Given the description of an element on the screen output the (x, y) to click on. 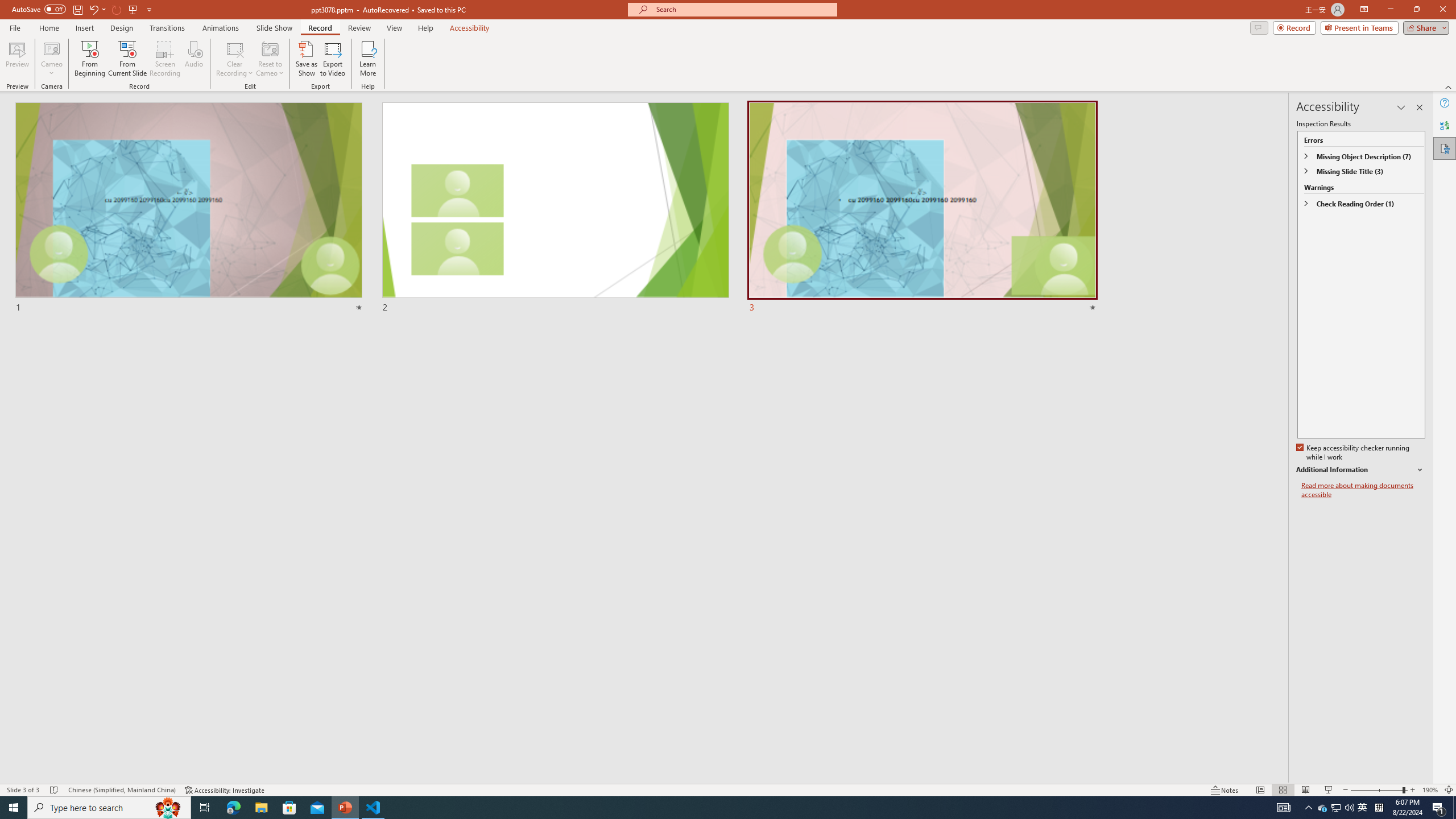
Additional Information (1360, 469)
Read more about making documents accessible (1363, 489)
Screen Recording (165, 58)
Keep accessibility checker running while I work (1353, 452)
Reset to Cameo (269, 58)
Zoom 190% (1430, 790)
Cameo (51, 58)
